Given the description of an element on the screen output the (x, y) to click on. 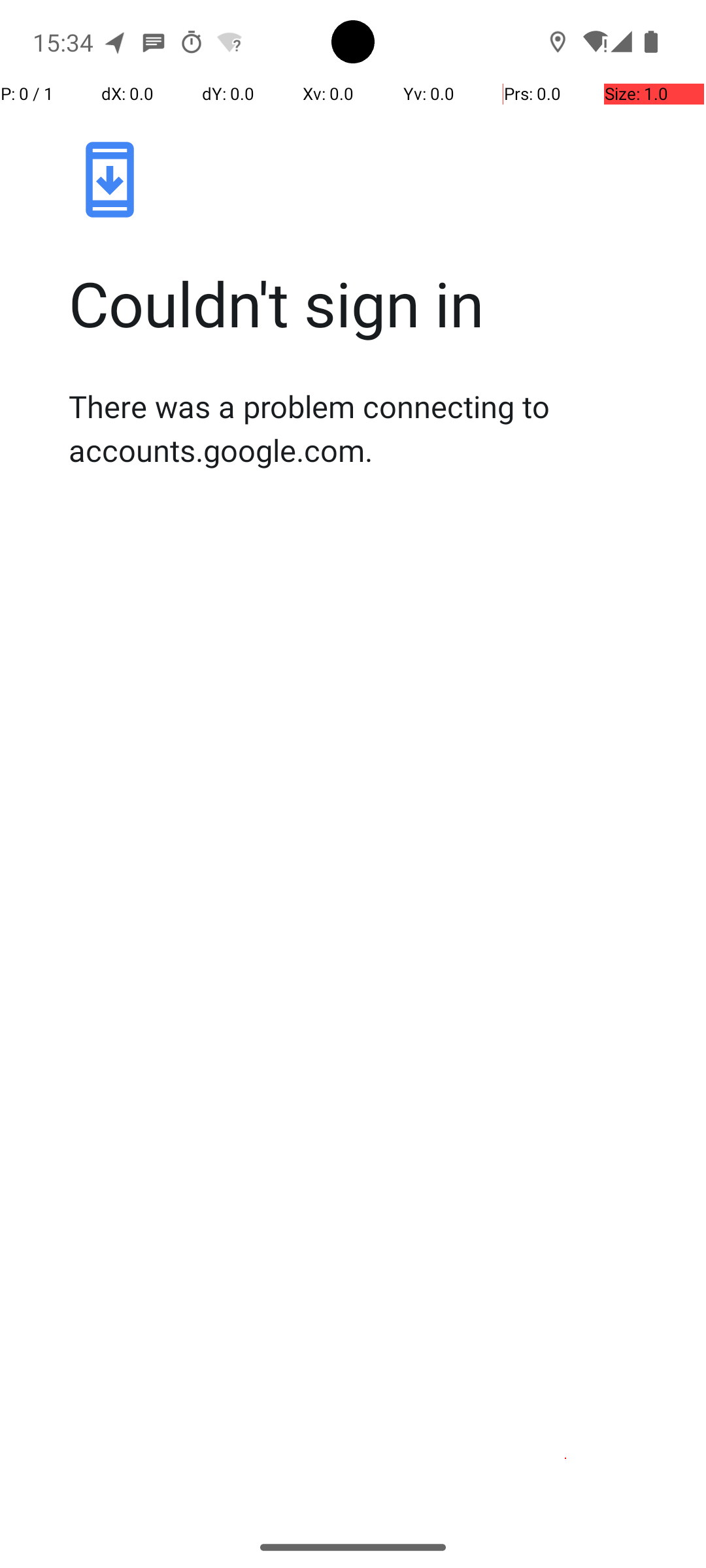
Couldn't sign in Element type: android.widget.TextView (366, 302)
There was a problem connecting to accounts.google.com. Element type: android.widget.TextView (366, 427)
